Given the description of an element on the screen output the (x, y) to click on. 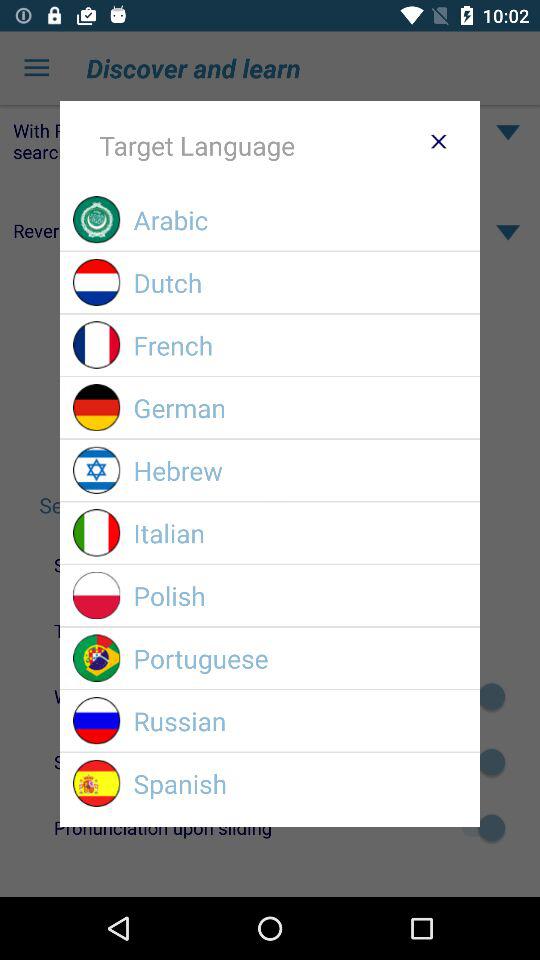
turn on the item to the right of the target language (438, 141)
